Given the description of an element on the screen output the (x, y) to click on. 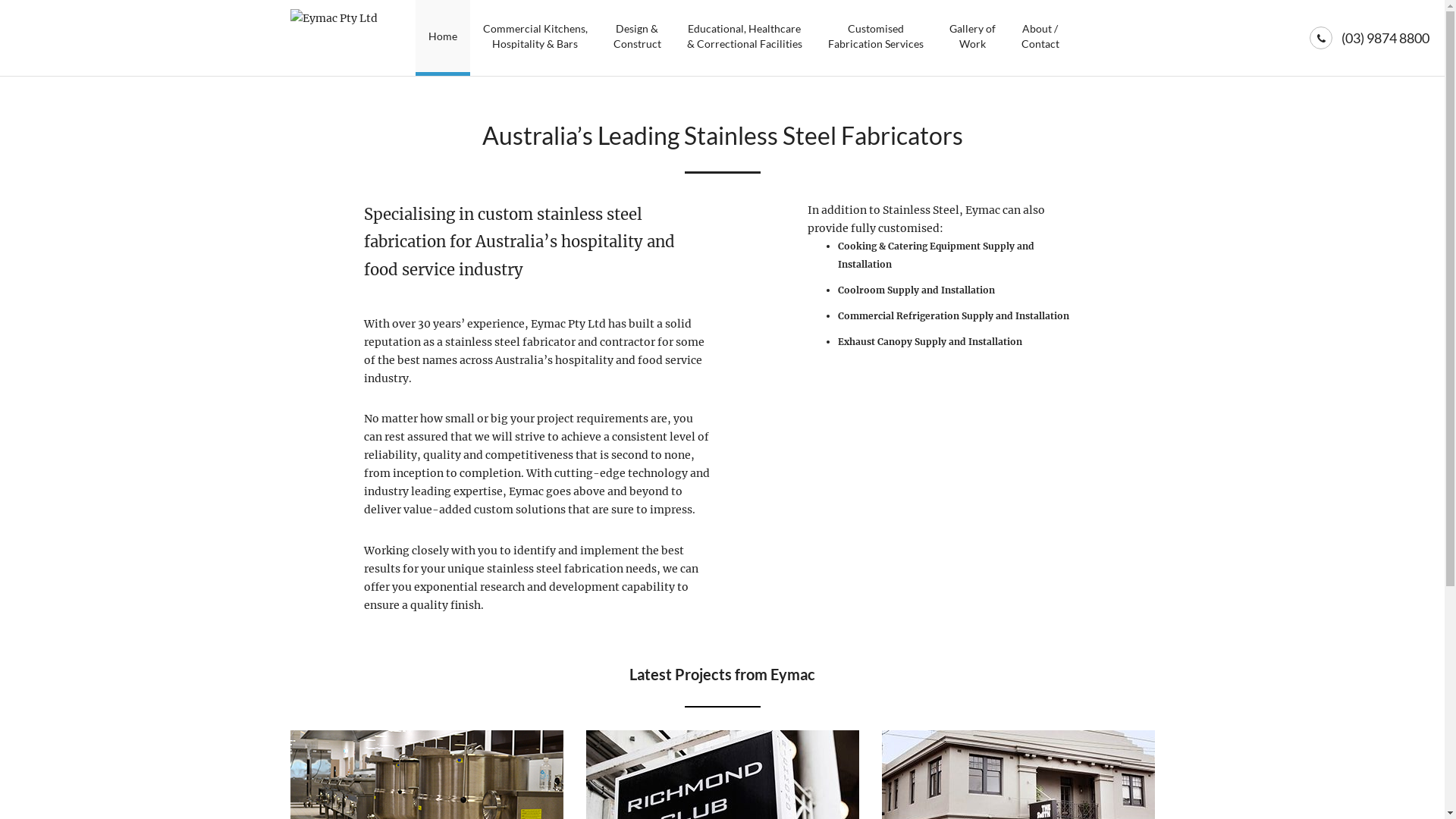
About /
Contact Element type: text (1040, 37)
(03) 9874 8800 Element type: text (1385, 37)
Customised
Fabrication Services Element type: text (874, 37)
Educational, Healthcare
& Correctional Facilities Element type: text (743, 37)
Commercial Kitchens,
Hospitality & Bars Element type: text (535, 37)
Design &
Construct Element type: text (637, 37)
Gallery of
Work Element type: text (971, 37)
Home Element type: text (442, 37)
